Given the description of an element on the screen output the (x, y) to click on. 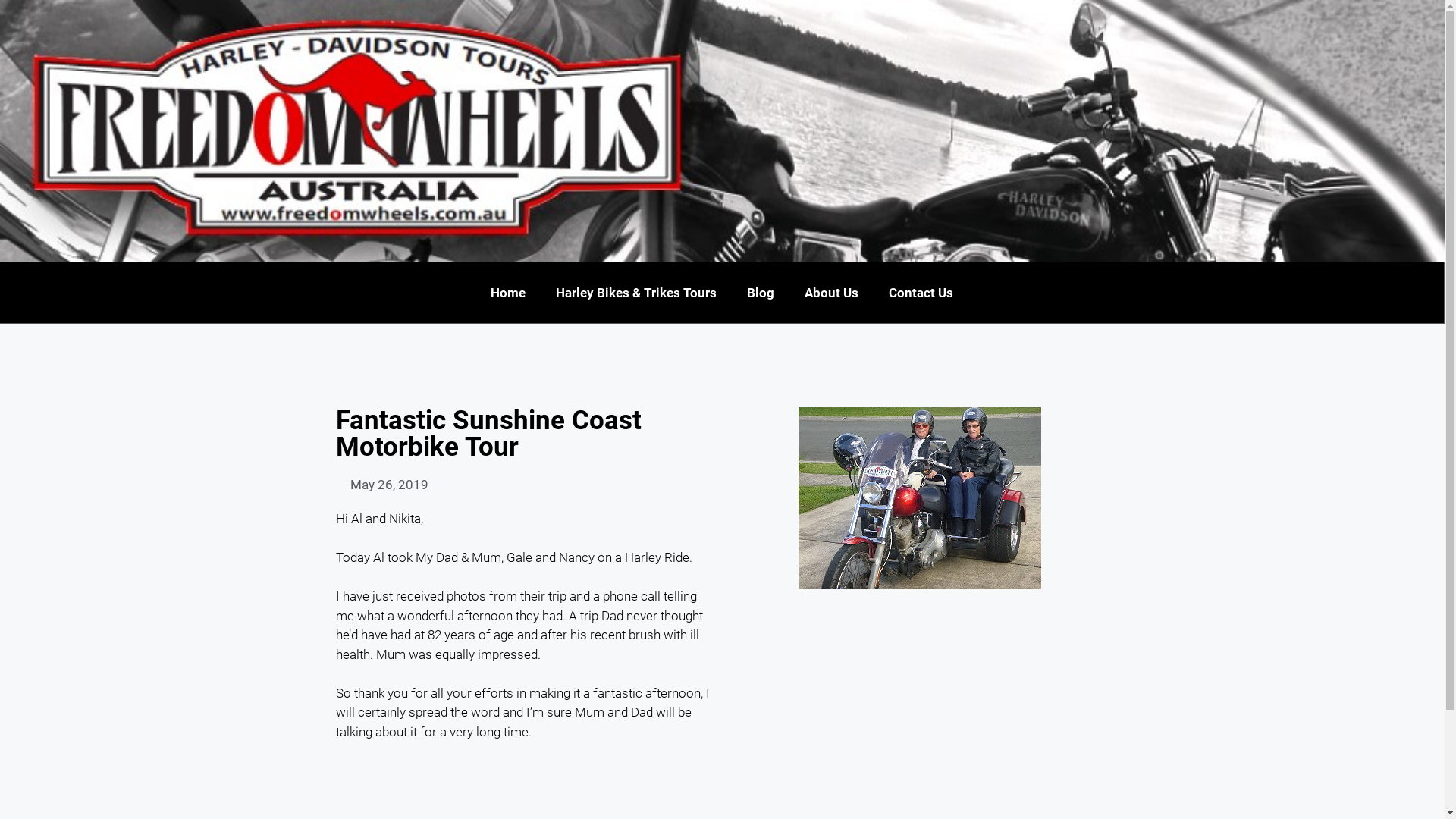
Harley Bikes & Trikes Tours Element type: text (635, 292)
Home Element type: text (507, 292)
Blog Element type: text (760, 292)
Contact Us Element type: text (920, 292)
About Us Element type: text (831, 292)
May 26, 2019 Element type: text (381, 485)
